Given the description of an element on the screen output the (x, y) to click on. 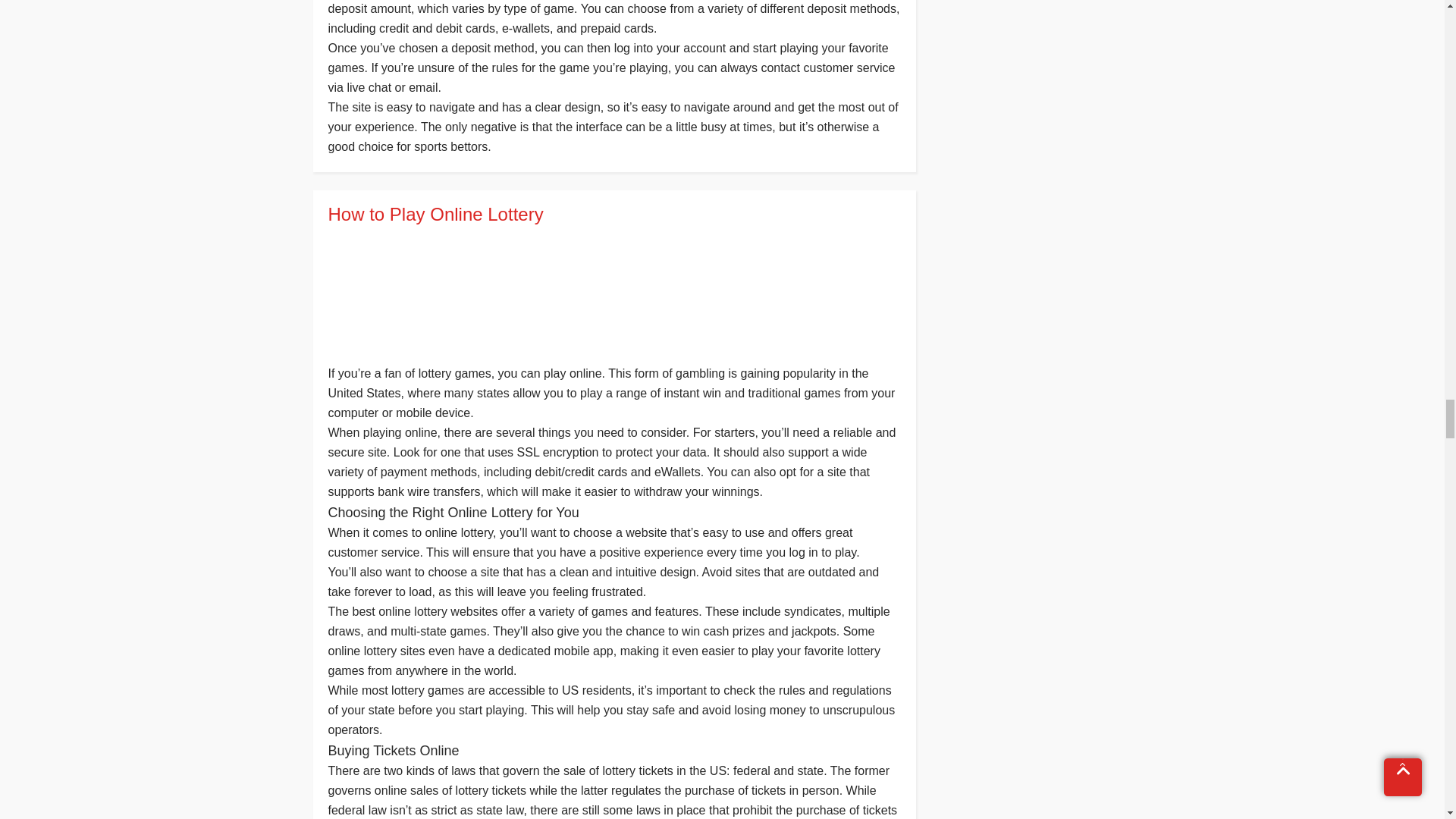
How to Play Online Lottery (613, 214)
